Given the description of an element on the screen output the (x, y) to click on. 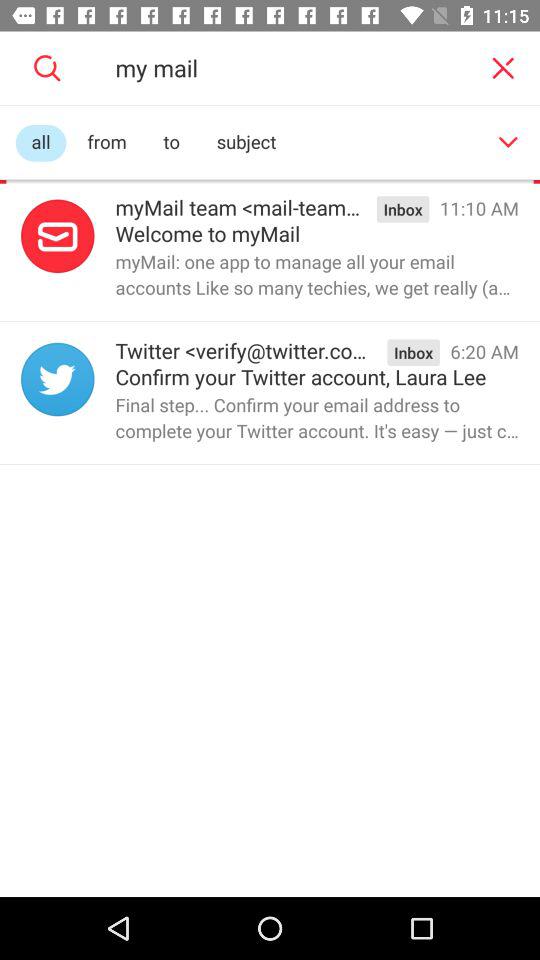
flip to subject (246, 142)
